Given the description of an element on the screen output the (x, y) to click on. 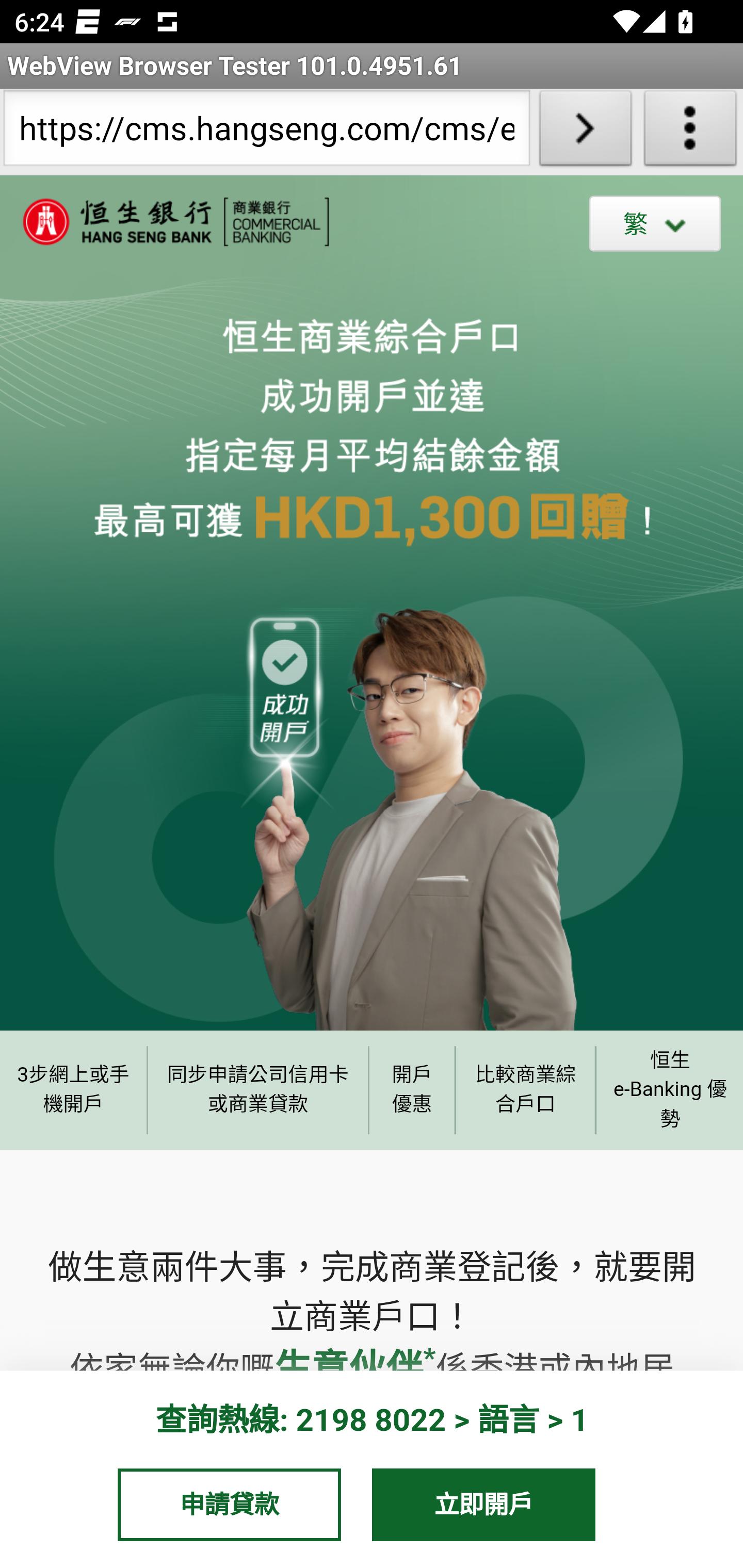
Load URL (585, 132)
About WebView (690, 132)
home (164, 222)
繁  繁    (655, 223)
恒生e‑Banking 優勢 (669, 1089)
3步網上或手機開戶 (73, 1089)
同步申請公司信用卡或商業貸款 (257, 1089)
開戶優惠 (411, 1089)
比較商業綜合戶口 (525, 1089)
申請貸款 (229, 1504)
立即開戶 (484, 1504)
